Given the description of an element on the screen output the (x, y) to click on. 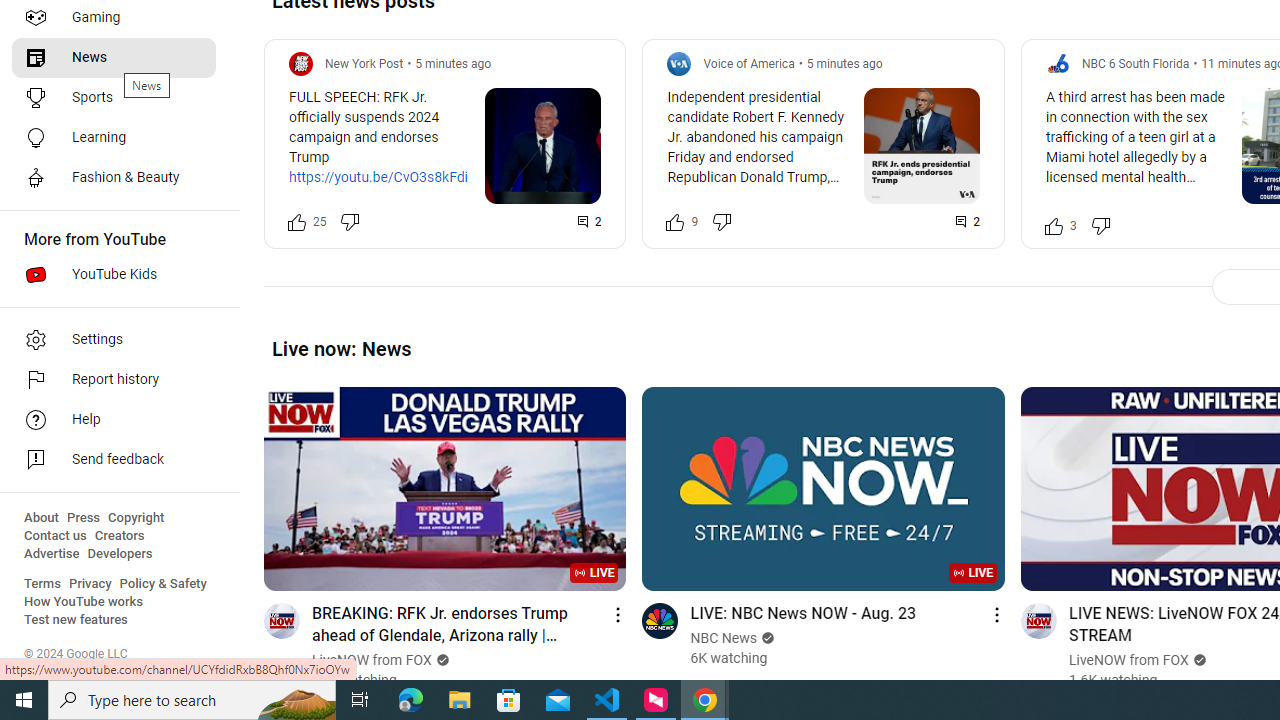
Comment (968, 221)
Like this post along with 9 other people (675, 221)
Test new features (76, 620)
Learning (113, 137)
Press (83, 518)
5 minutes ago (844, 63)
LiveNOW from FOX (1128, 660)
